Given the description of an element on the screen output the (x, y) to click on. 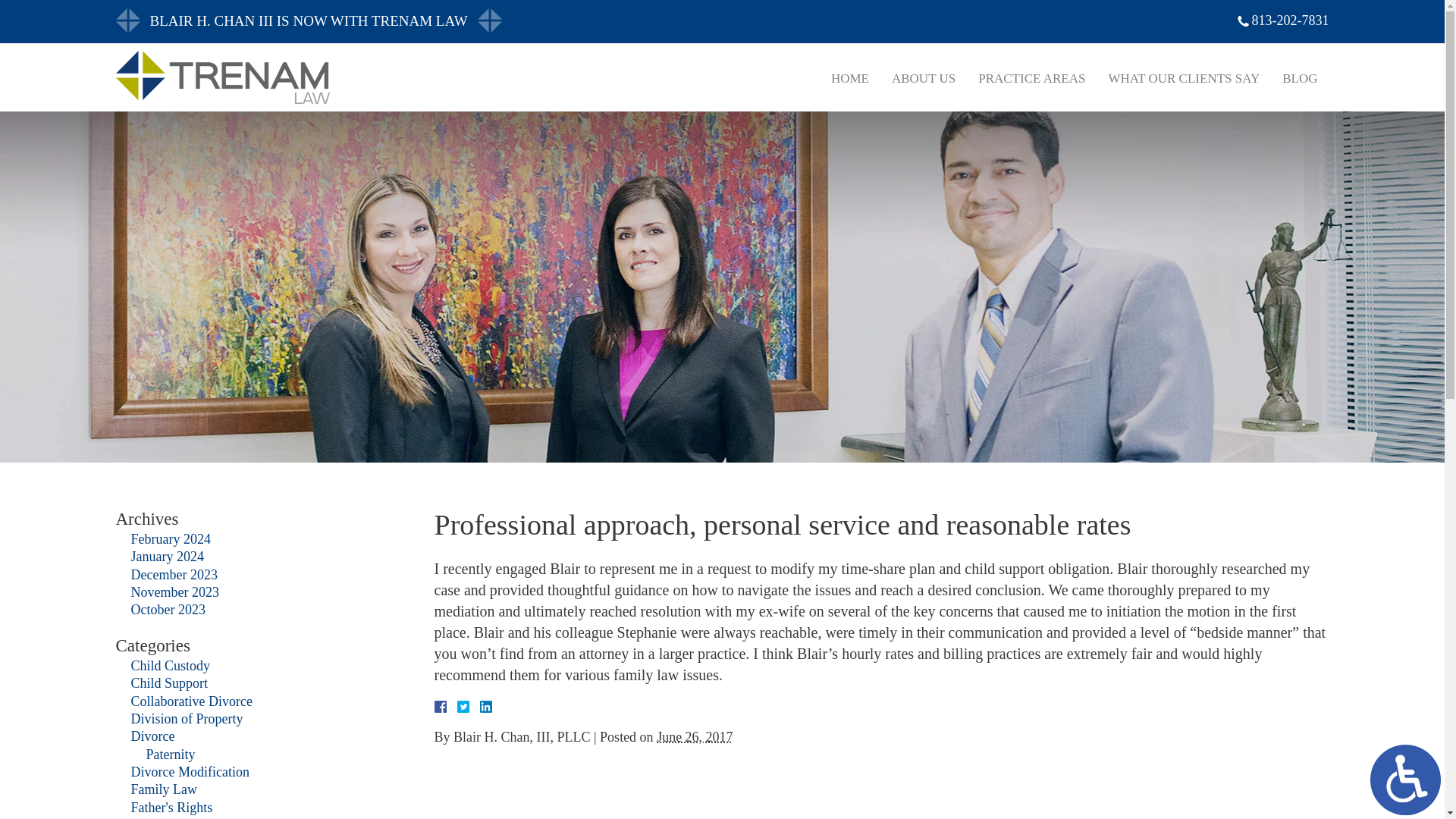
Twitter (468, 706)
WHAT OUR CLIENTS SAY (1183, 78)
BLAIR H. CHAN III IS NOW WITH TRENAM LAW (899, 21)
2017-06-26T15:04:57-0700 (694, 736)
ABOUT US (923, 78)
PRACTICE AREAS (1031, 78)
February 2024 (170, 539)
November 2023 (174, 591)
December 2023 (173, 574)
BLOG (1299, 78)
LinkedIn (478, 706)
Facebook (457, 706)
January 2024 (167, 556)
HOME (849, 78)
